Given the description of an element on the screen output the (x, y) to click on. 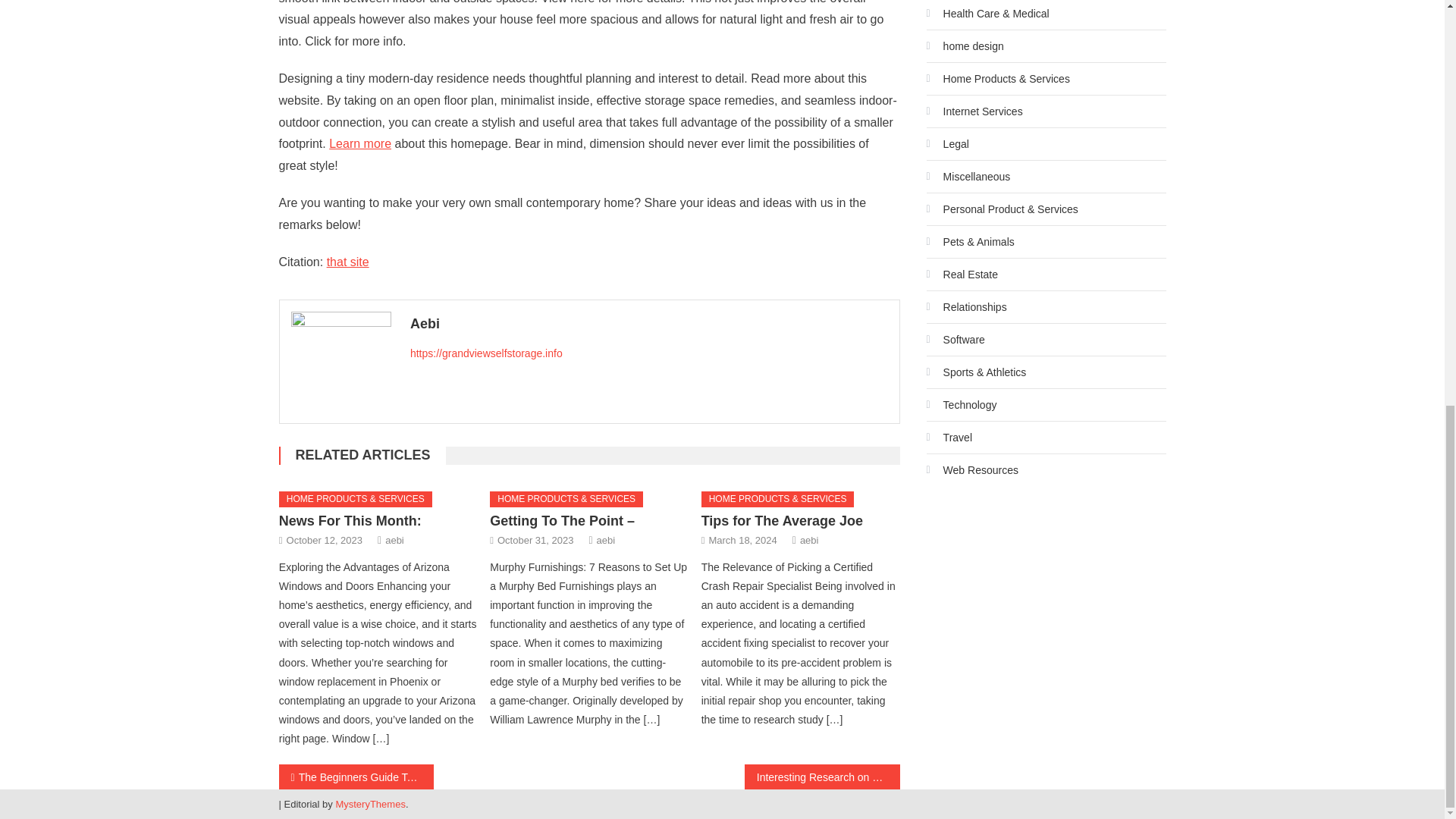
October 12, 2023 (324, 539)
October 31, 2023 (535, 539)
Aebi (649, 323)
March 18, 2024 (741, 539)
aebi (605, 539)
Learn more (360, 143)
Tips for The Average Joe (782, 520)
aebi (808, 539)
News For This Month: (350, 520)
that site (347, 261)
aebi (394, 539)
